Given the description of an element on the screen output the (x, y) to click on. 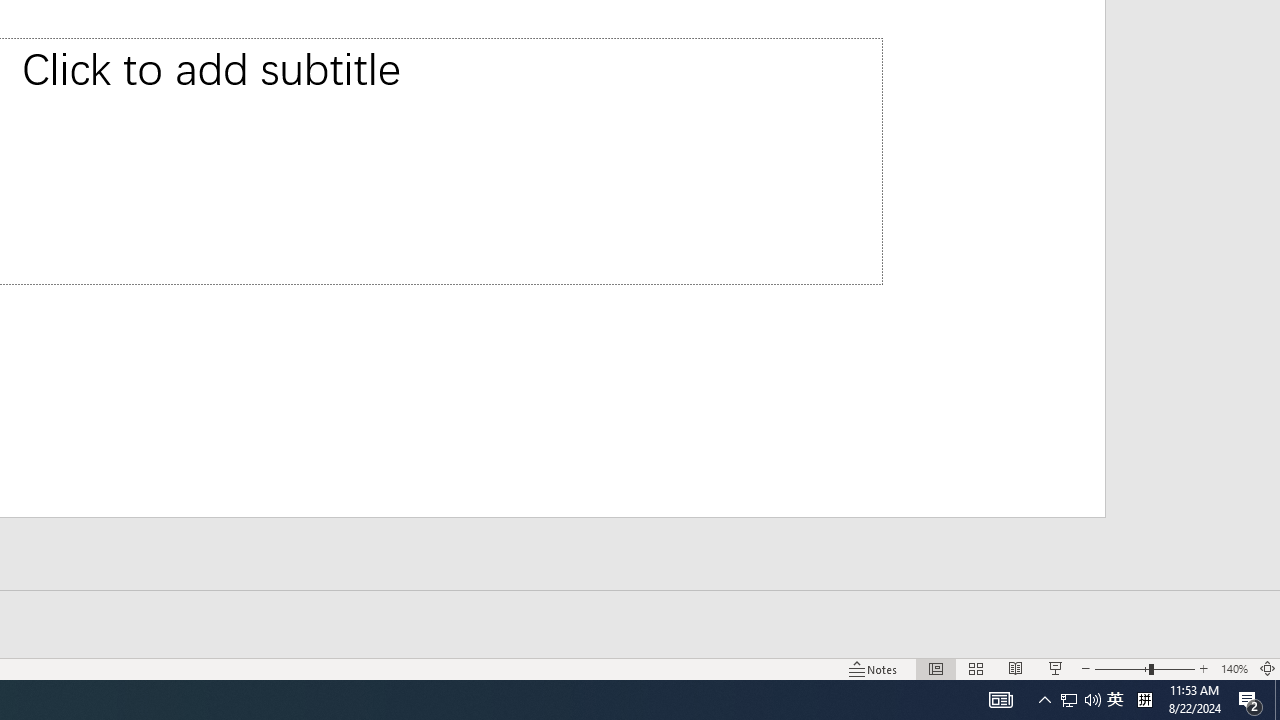
Zoom 140% (1234, 668)
